Given the description of an element on the screen output the (x, y) to click on. 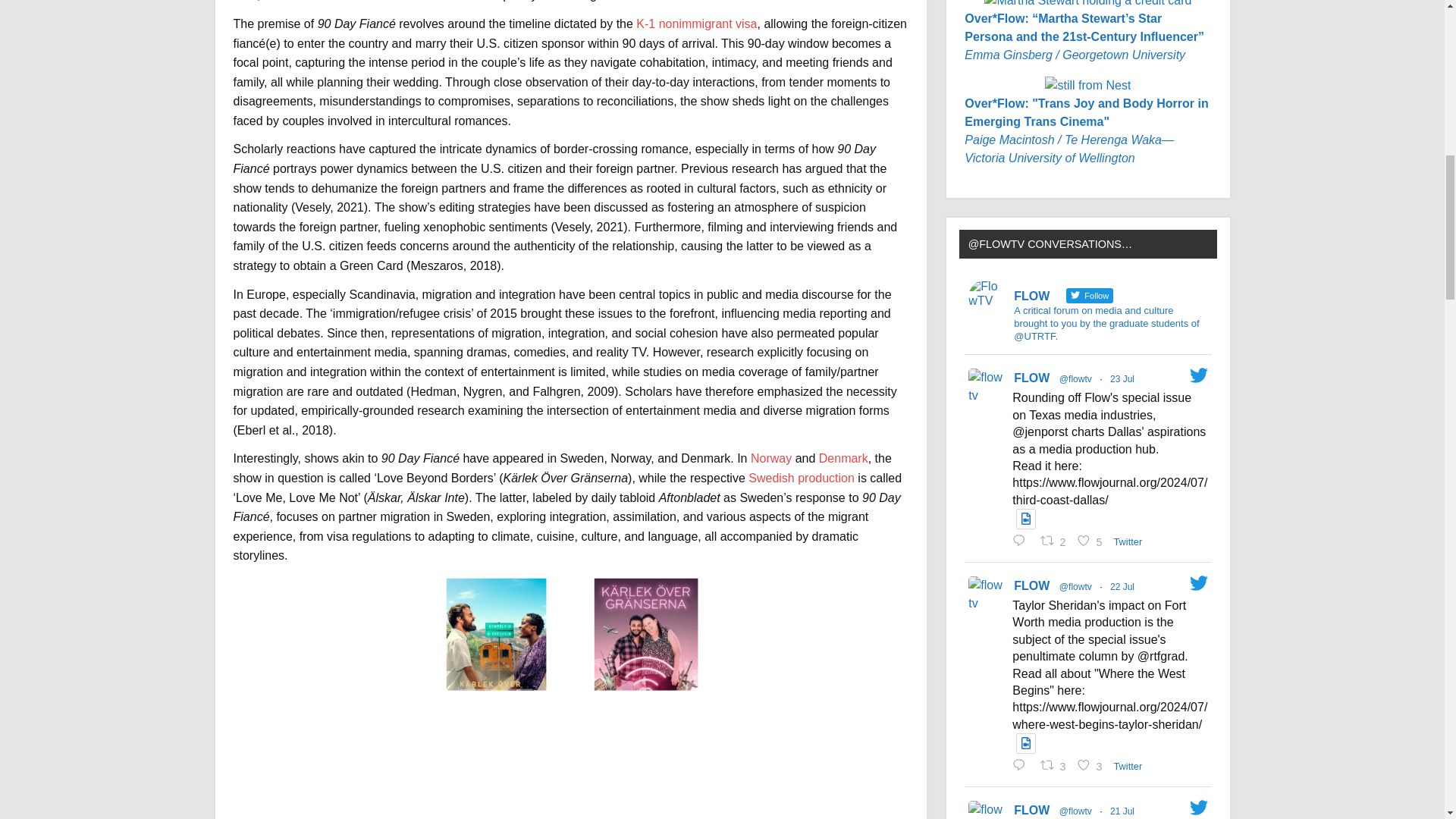
Norway (771, 458)
K-1 nonimmigrant visa (696, 23)
Denmark (842, 458)
Swedish production (801, 477)
